Given the description of an element on the screen output the (x, y) to click on. 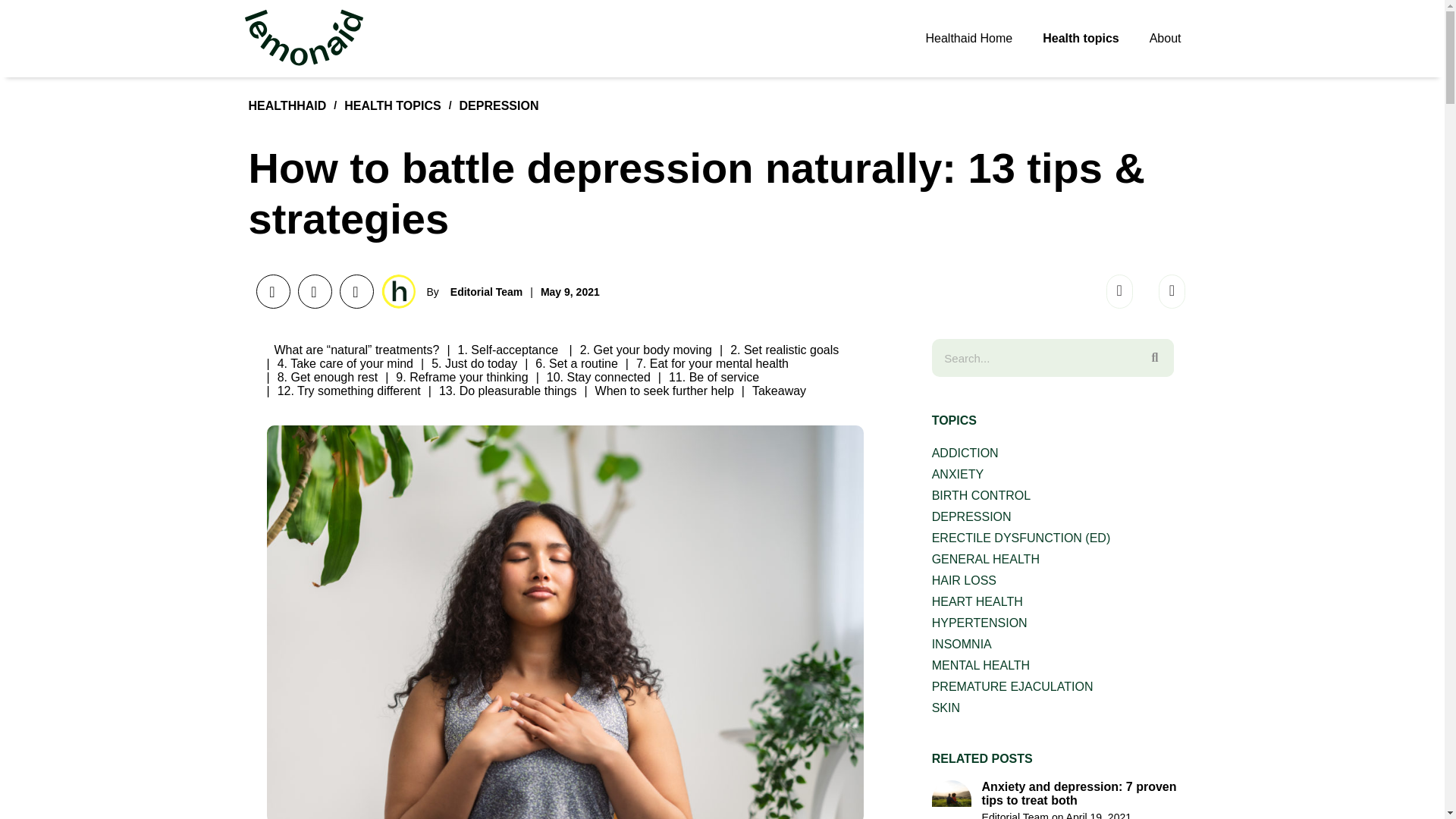
4. Take care of your mind (345, 363)
HEALTH TOPICS (392, 105)
2. Get your body moving (645, 349)
DEPRESSION (499, 105)
11. Be of service (713, 377)
2. Set realistic goals (784, 349)
Healthaid Home (968, 38)
HEALTHHAID (287, 105)
About (1165, 38)
10. Stay connected (598, 377)
